Given the description of an element on the screen output the (x, y) to click on. 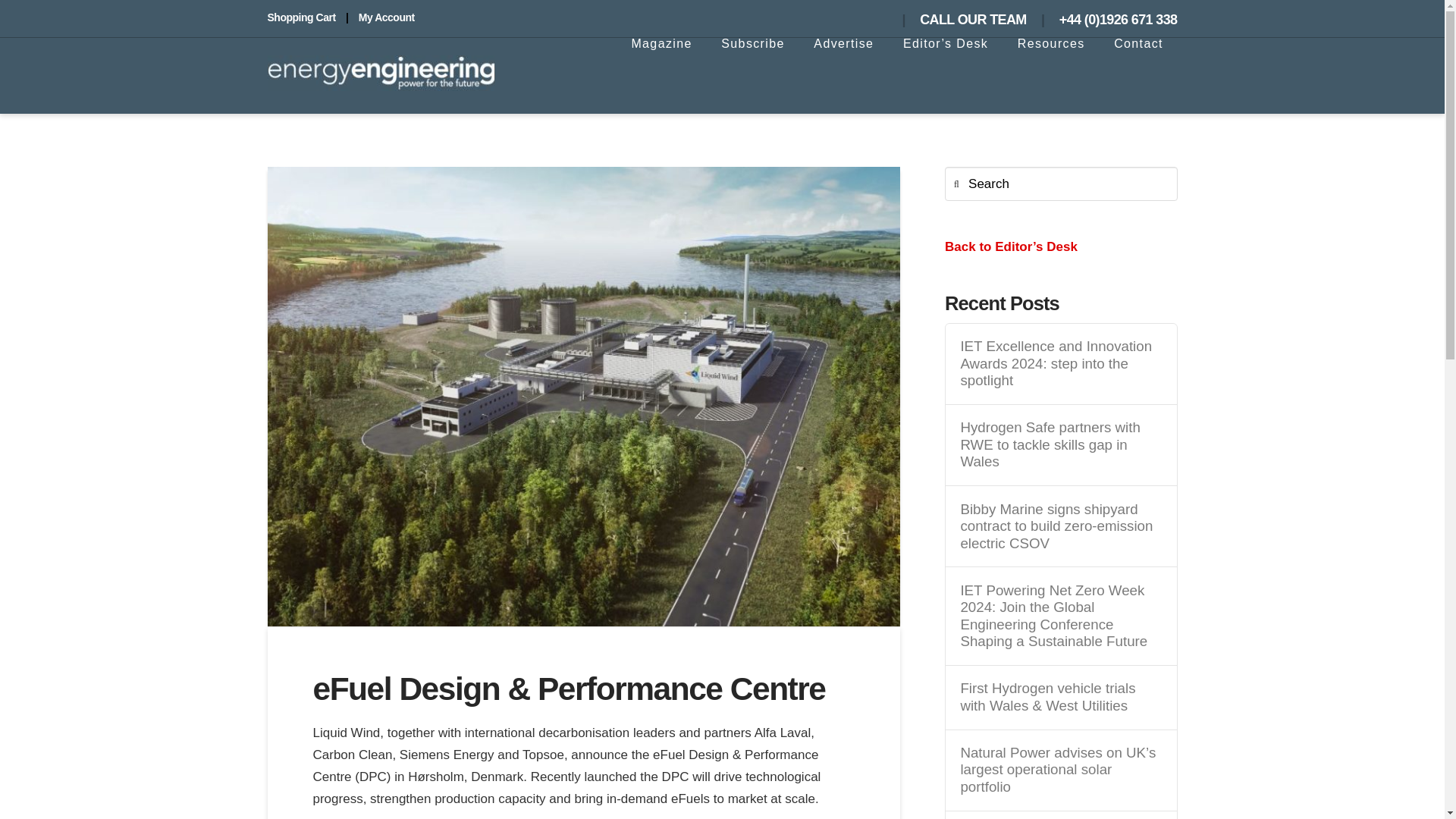
My Account (386, 17)
Subscribe (751, 75)
Contact (1137, 75)
Shopping Cart (300, 17)
Page 12 (583, 770)
Magazine (660, 75)
Resources (1051, 75)
Advertise (842, 75)
